Given the description of an element on the screen output the (x, y) to click on. 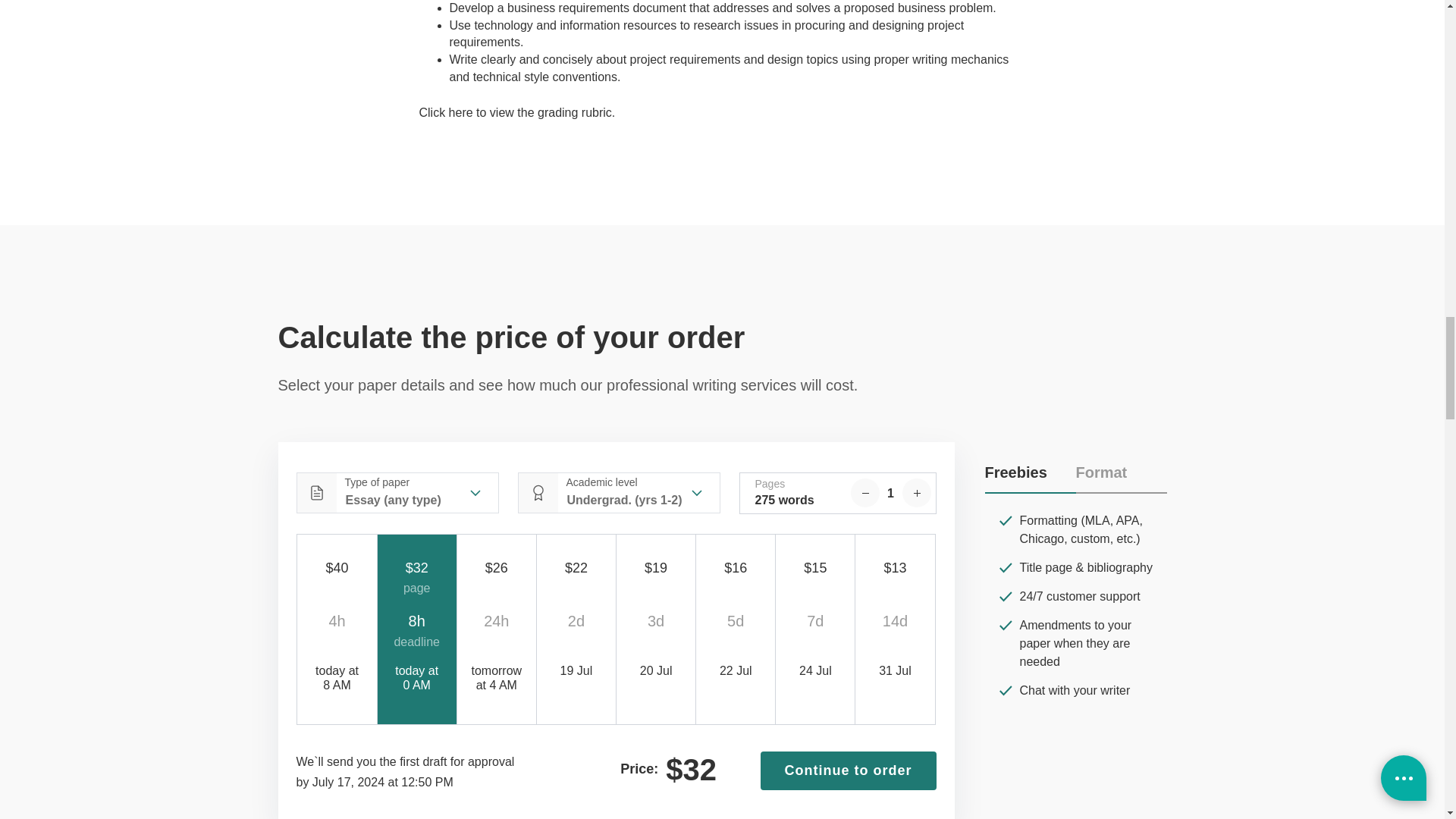
5 days (734, 630)
7 days (815, 630)
2 days (576, 630)
1 (890, 493)
3 days (655, 630)
Continue to order (848, 771)
14 days (894, 630)
